Given the description of an element on the screen output the (x, y) to click on. 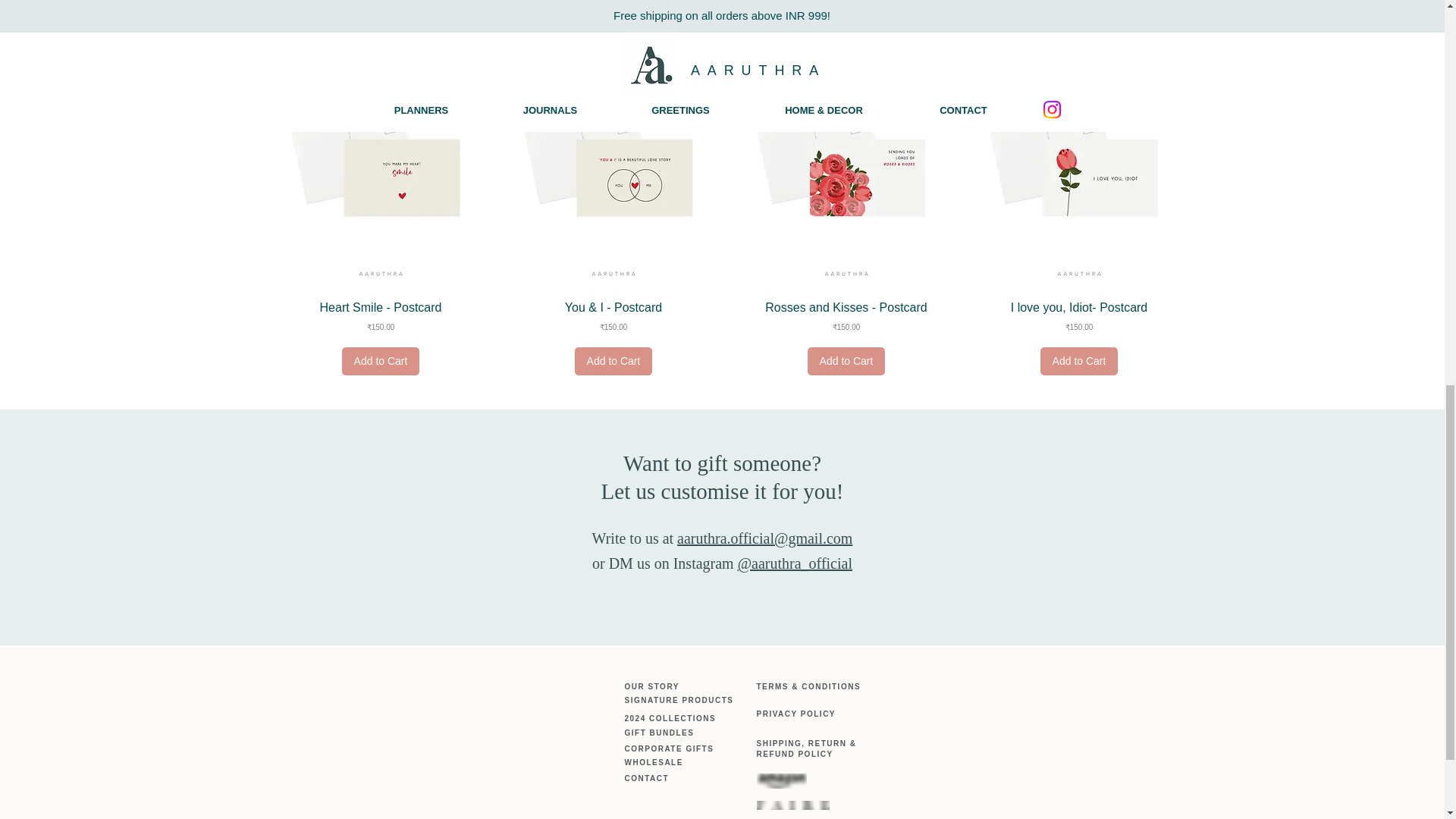
Add to Cart (381, 361)
Add to Cart (846, 361)
Add to Cart (613, 361)
Add to Cart (1079, 361)
